Given the description of an element on the screen output the (x, y) to click on. 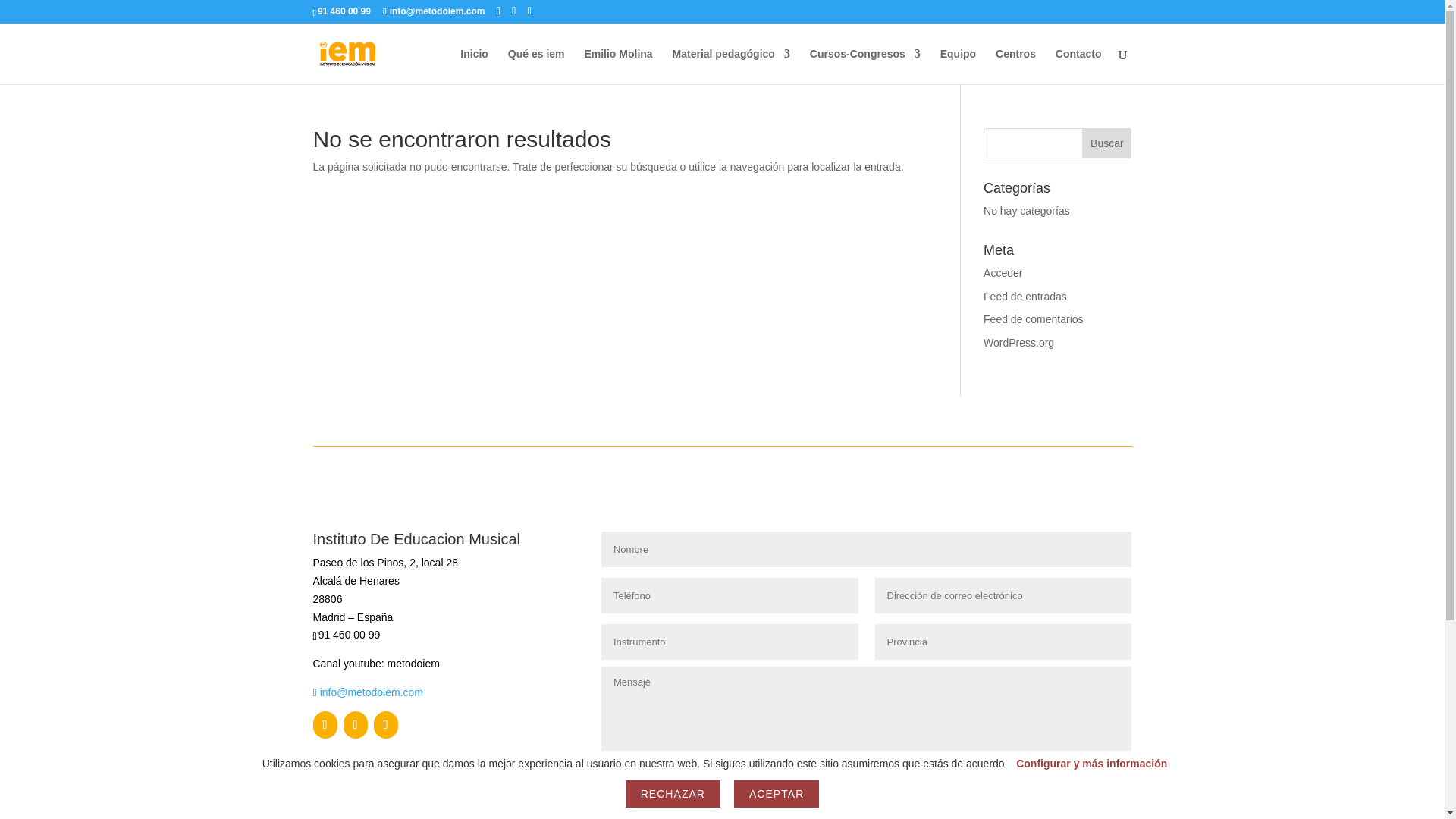
Seguir en Facebook (324, 724)
Centros (1015, 66)
Equipo (957, 66)
Seguir en Instagram (384, 724)
Emilio Molina (617, 66)
Cursos-Congresos (864, 66)
Contacto (1078, 66)
Buscar (1106, 142)
